Given the description of an element on the screen output the (x, y) to click on. 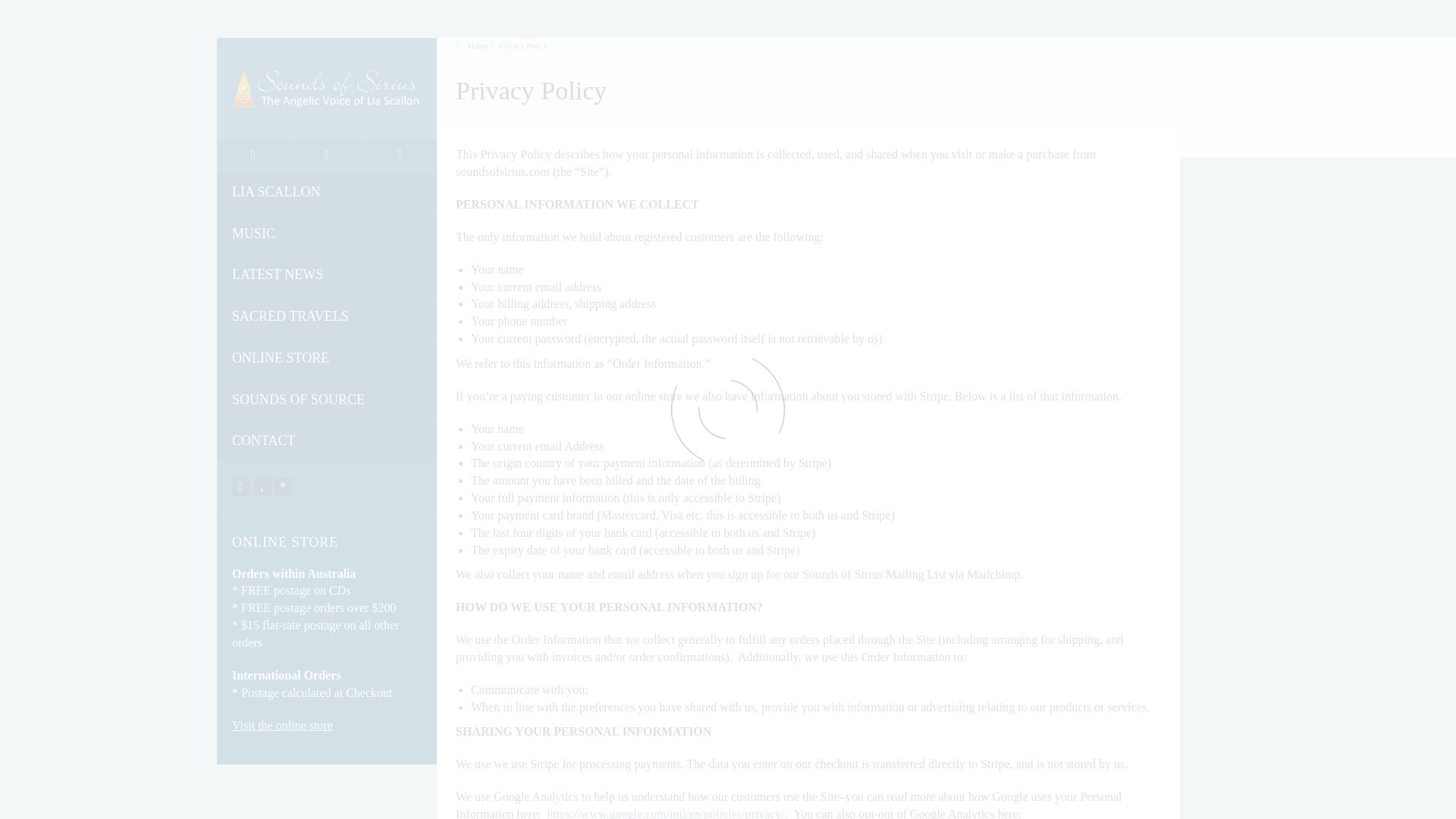
SoundCloud (283, 486)
YouTube (261, 486)
LIA SCALLON (326, 192)
MUSIC (326, 234)
Search (399, 154)
Facebook (240, 486)
Sounds of Sirius (326, 86)
Login (252, 154)
Cart (326, 154)
